Given the description of an element on the screen output the (x, y) to click on. 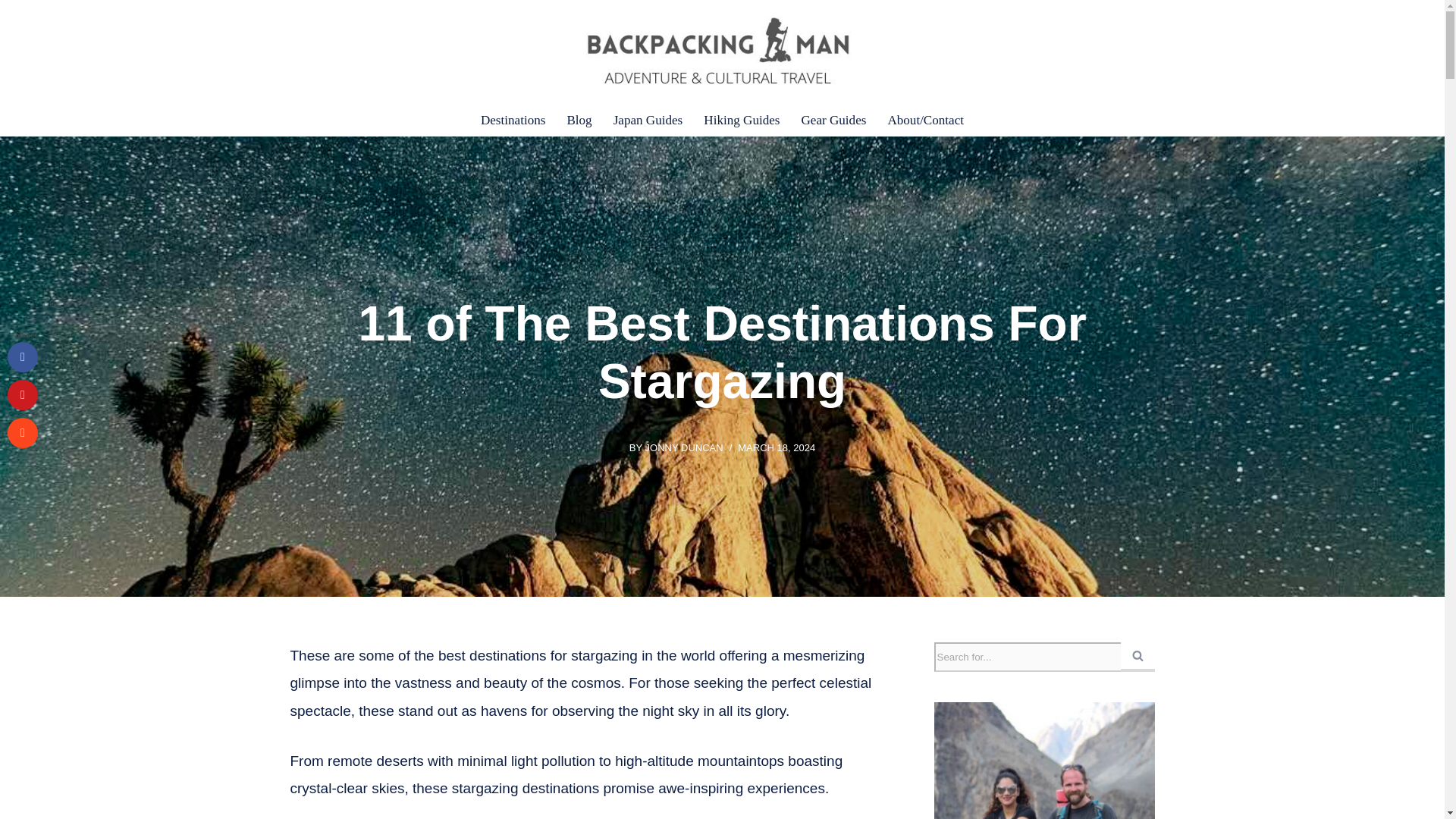
Skip to content (11, 31)
Japan Guides (647, 119)
Posts by Jonny Duncan (684, 447)
Hiking Guides (740, 119)
Gear Guides (833, 119)
JONNY DUNCAN (684, 447)
Destinations (512, 119)
Blog (578, 119)
